Given the description of an element on the screen output the (x, y) to click on. 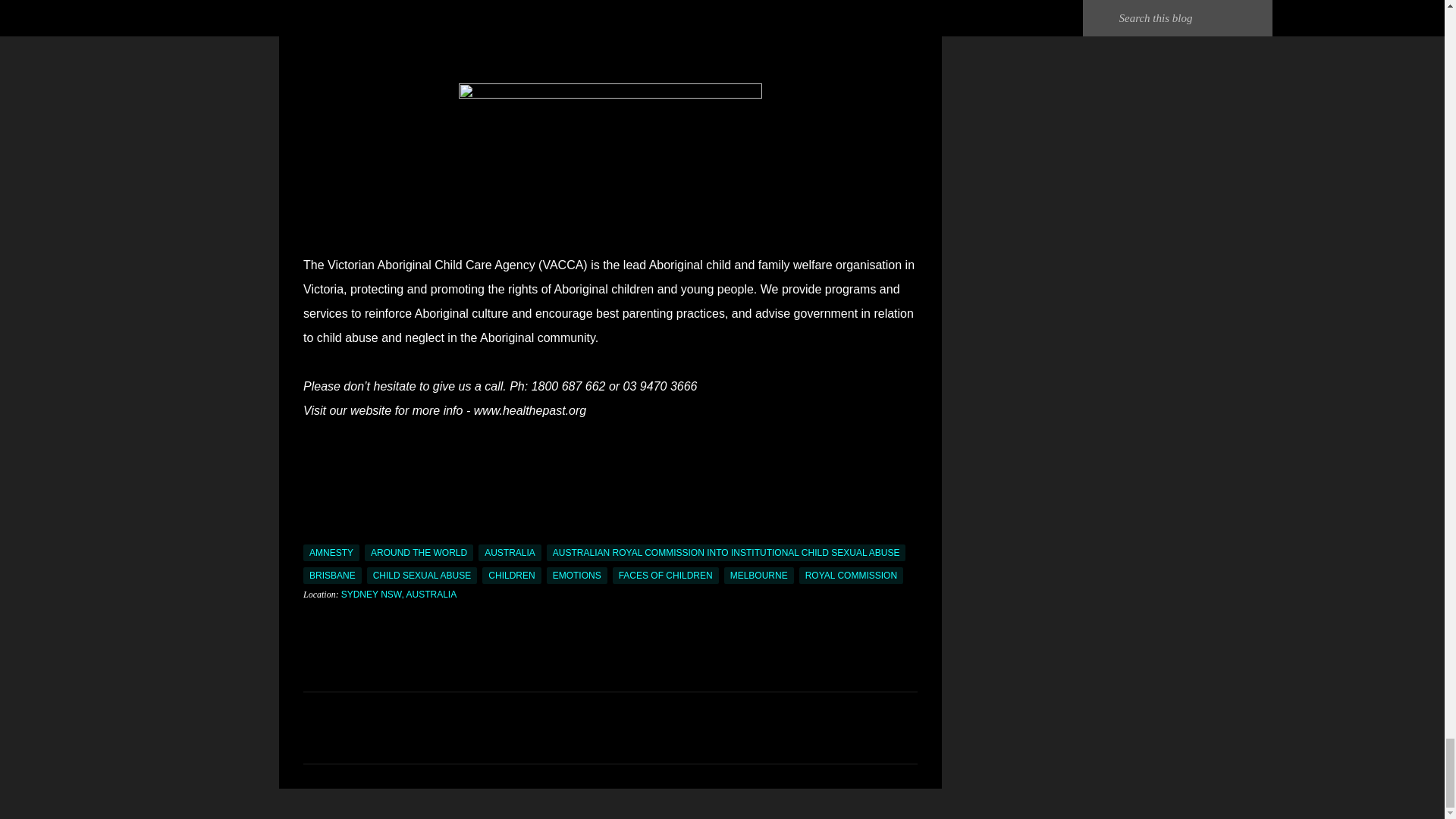
EMOTIONS (577, 575)
AUSTRALIA (510, 552)
BRISBANE (331, 575)
SYDNEY NSW, AUSTRALIA (398, 593)
Email Post (311, 534)
FACES OF CHILDREN (665, 575)
CHILDREN (510, 575)
CHILD SEXUAL ABUSE (421, 575)
AMNESTY (330, 552)
ROYAL COMMISSION (850, 575)
MELBOURNE (758, 575)
AROUND THE WORLD (419, 552)
